Given the description of an element on the screen output the (x, y) to click on. 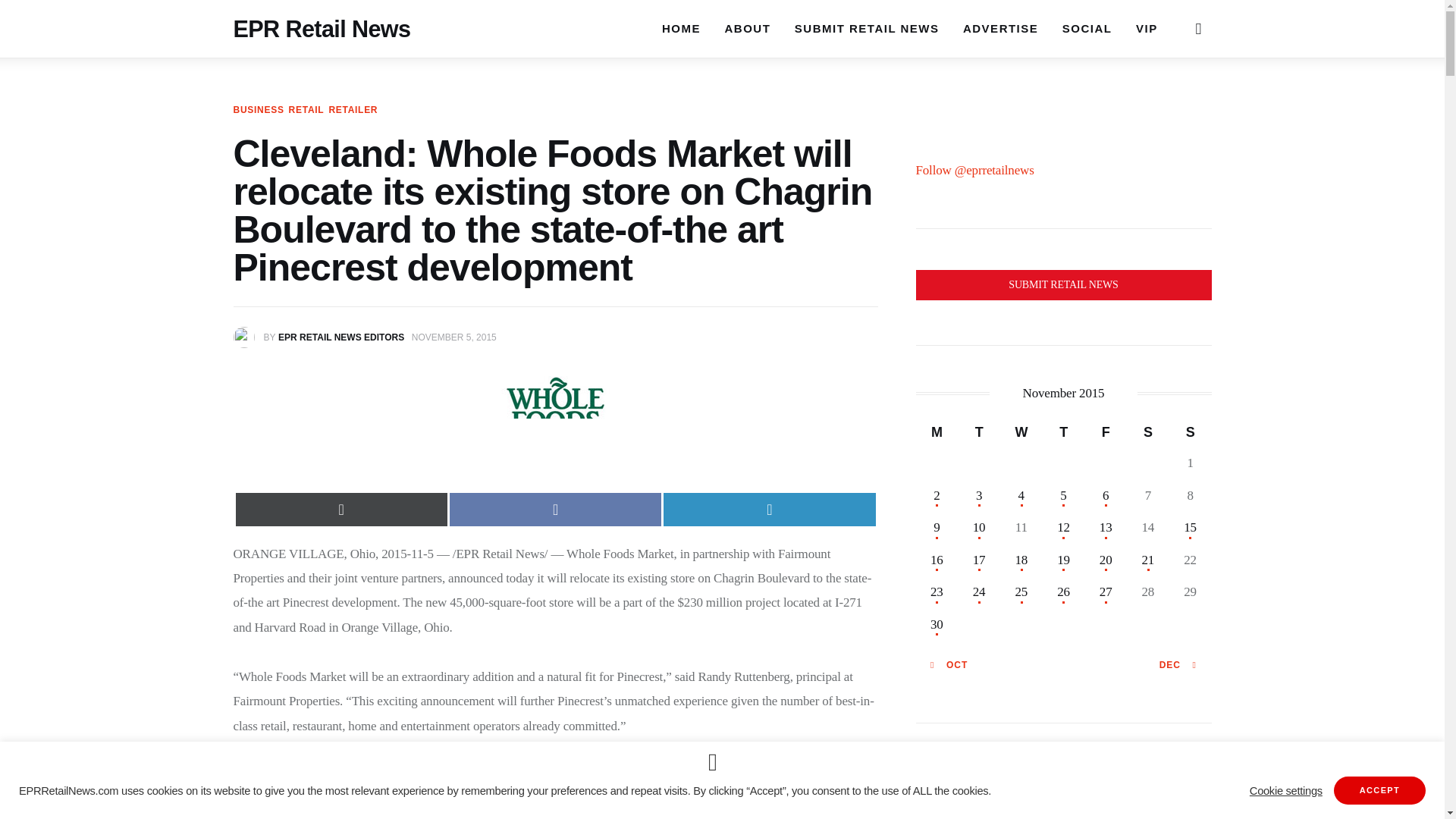
ABOUT (748, 17)
Submit Retail News (1063, 285)
Wednesday (1021, 431)
SOCIAL (1086, 28)
Monday (936, 431)
Friday (1105, 431)
Tuesday (979, 431)
VIP (1146, 28)
HOME (681, 15)
SUBMIT RETAIL NEWS (866, 28)
Sunday (1190, 431)
EPR Retail News (321, 8)
Saturday (1147, 431)
Thursday (1063, 431)
ADVERTISE (999, 28)
